Given the description of an element on the screen output the (x, y) to click on. 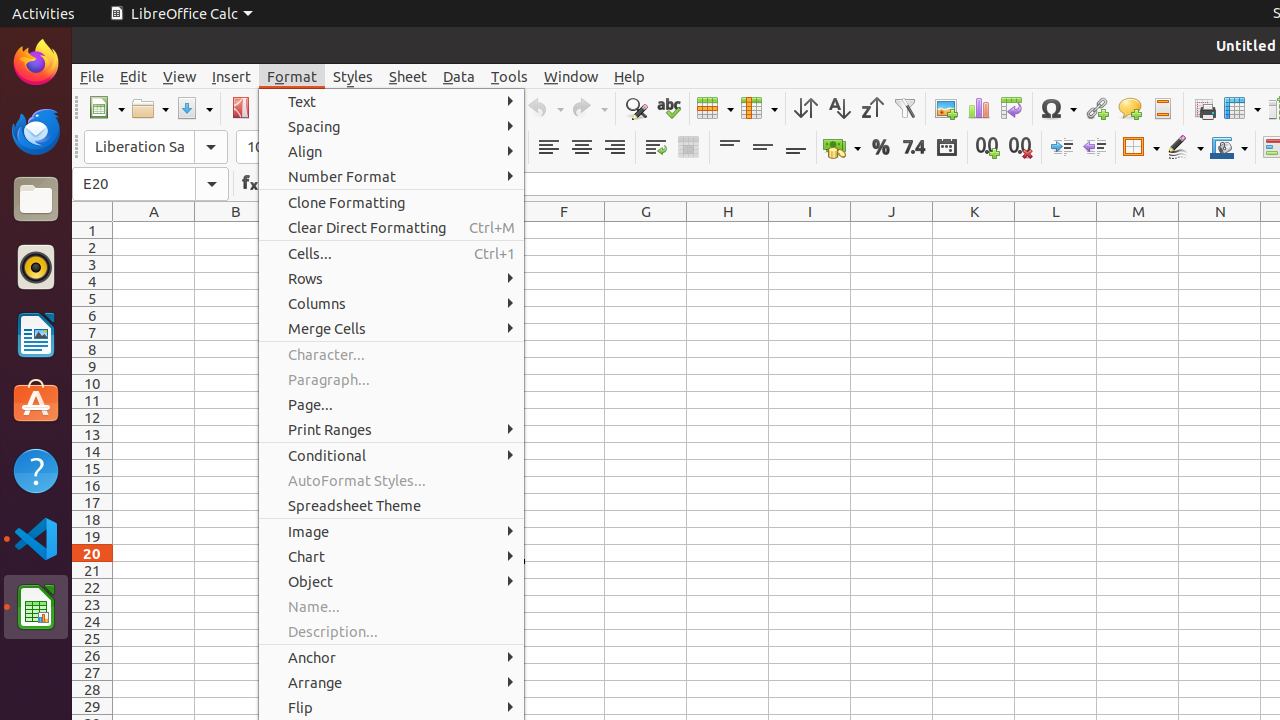
Sort Descending Element type: push-button (871, 108)
Symbol Element type: push-button (1058, 108)
Save Element type: push-button (194, 108)
Border Style Element type: push-button (1185, 147)
Help Element type: menu (629, 76)
